Given the description of an element on the screen output the (x, y) to click on. 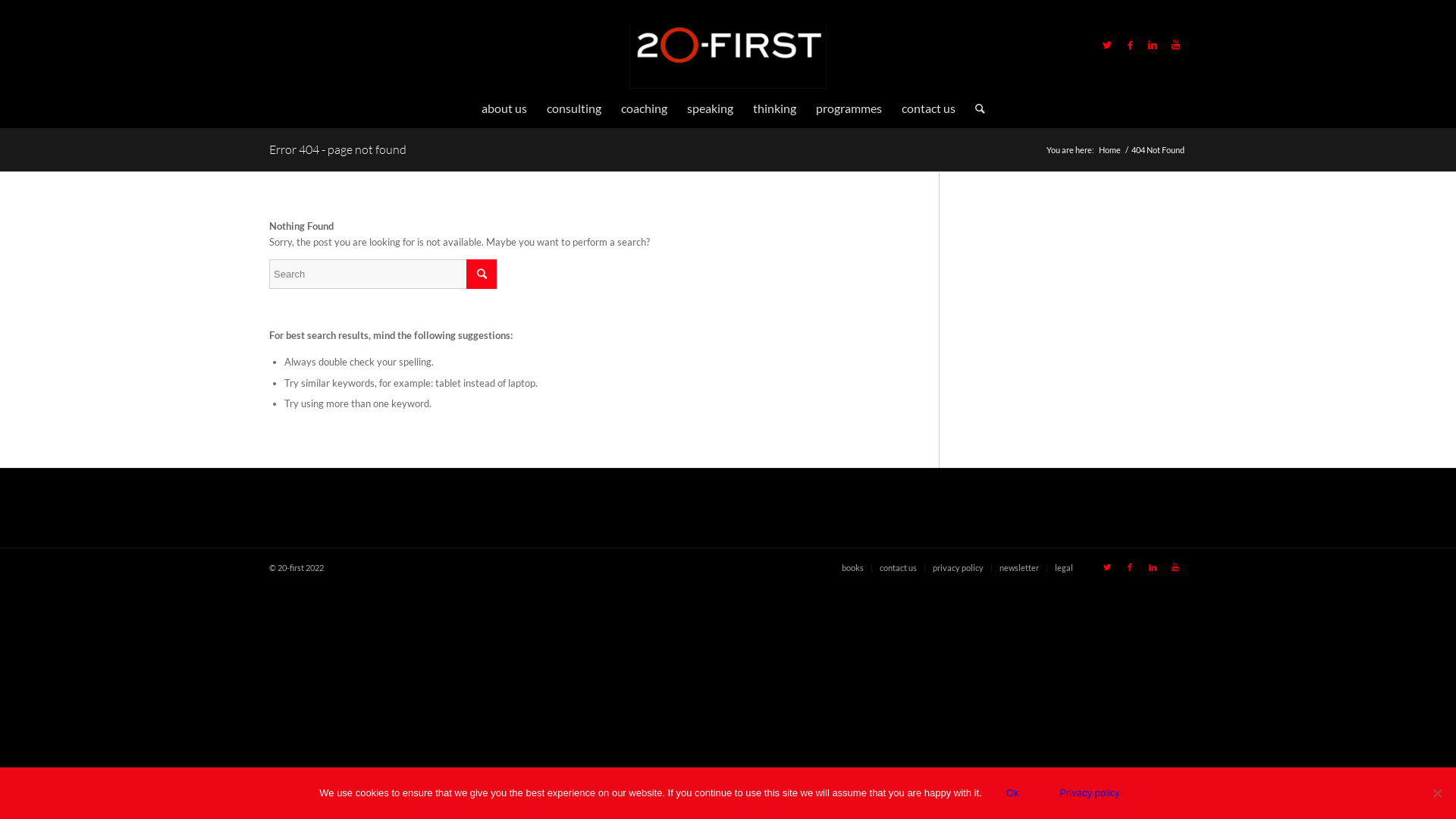
LinkedIn Element type: hover (1152, 44)
books Element type: text (852, 567)
newsletter Element type: text (1018, 567)
Ok Element type: text (1012, 792)
Twitter Element type: hover (1106, 566)
Youtube Element type: hover (1175, 566)
contact us Element type: text (897, 567)
speaking Element type: text (709, 108)
Twitter Element type: hover (1106, 44)
Facebook Element type: hover (1129, 566)
Youtube Element type: hover (1175, 44)
contact us Element type: text (928, 108)
Privacy policy Element type: text (1088, 792)
Home Element type: text (1109, 149)
consulting Element type: text (573, 108)
LinkedIn Element type: hover (1152, 566)
legal Element type: text (1063, 567)
about us Element type: text (503, 108)
thinking Element type: text (774, 108)
coaching Element type: text (644, 108)
programmes Element type: text (848, 108)
No Element type: hover (1436, 792)
privacy policy Element type: text (957, 567)
Facebook Element type: hover (1129, 44)
